Given the description of an element on the screen output the (x, y) to click on. 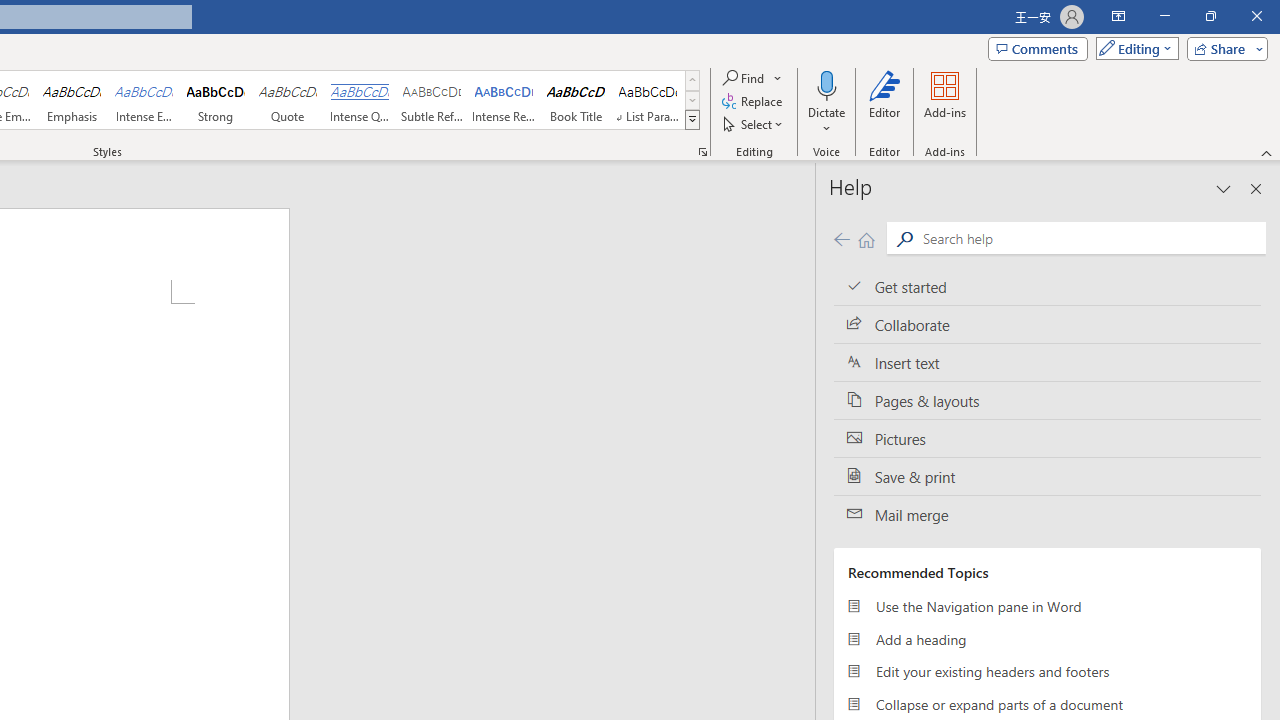
Save & print (1047, 476)
Subtle Reference (431, 100)
